Given the description of an element on the screen output the (x, y) to click on. 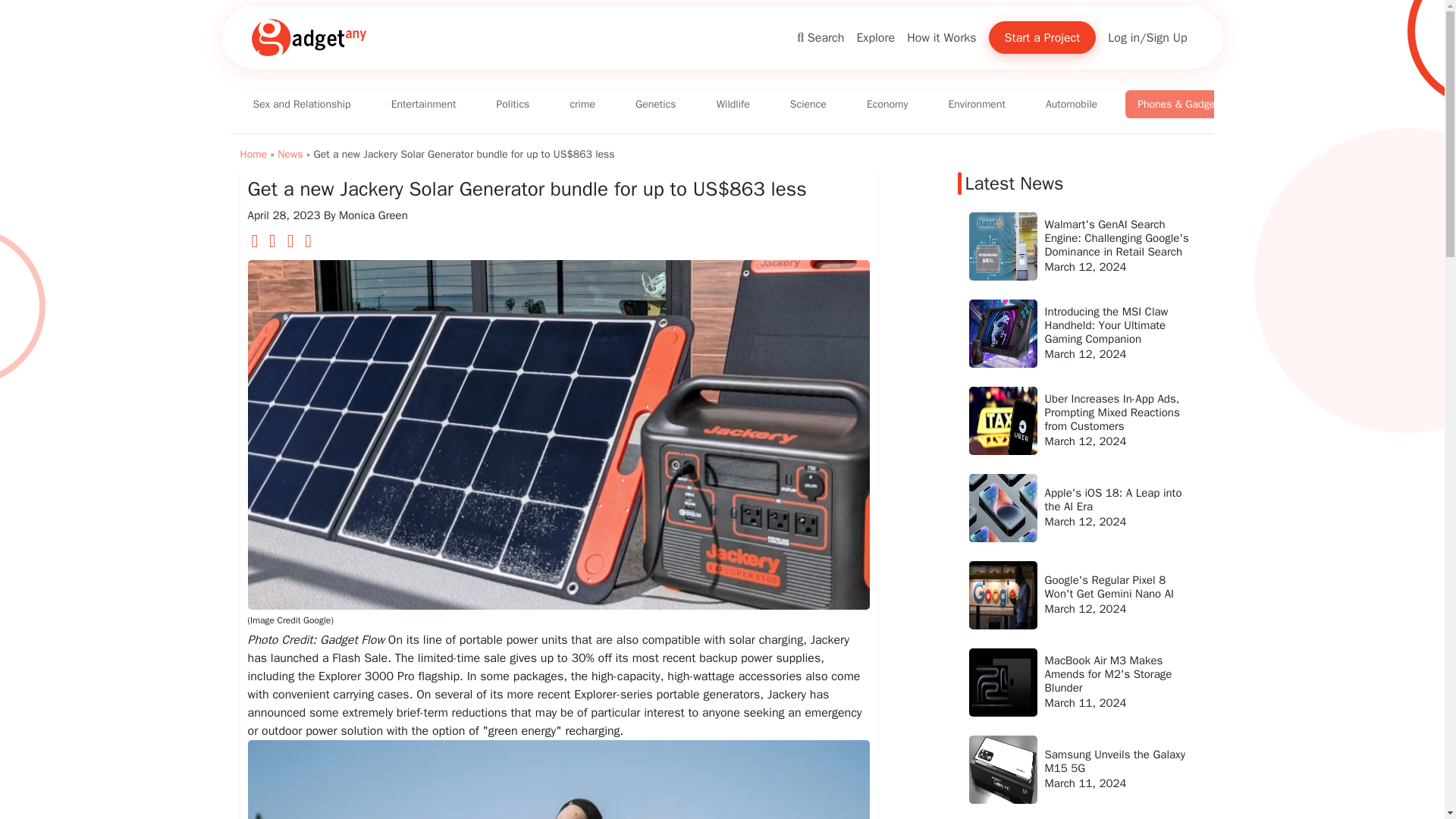
Environment (976, 103)
Search (820, 37)
Automobile (1071, 103)
Wildlife (732, 103)
crime (582, 103)
Politics (512, 103)
Genetics (655, 103)
Explore (875, 37)
Lifestyle (1385, 103)
Log in (1124, 37)
Start a Project (1042, 37)
Home (253, 154)
Economy (887, 103)
Entertainment (423, 103)
News (290, 154)
